Given the description of an element on the screen output the (x, y) to click on. 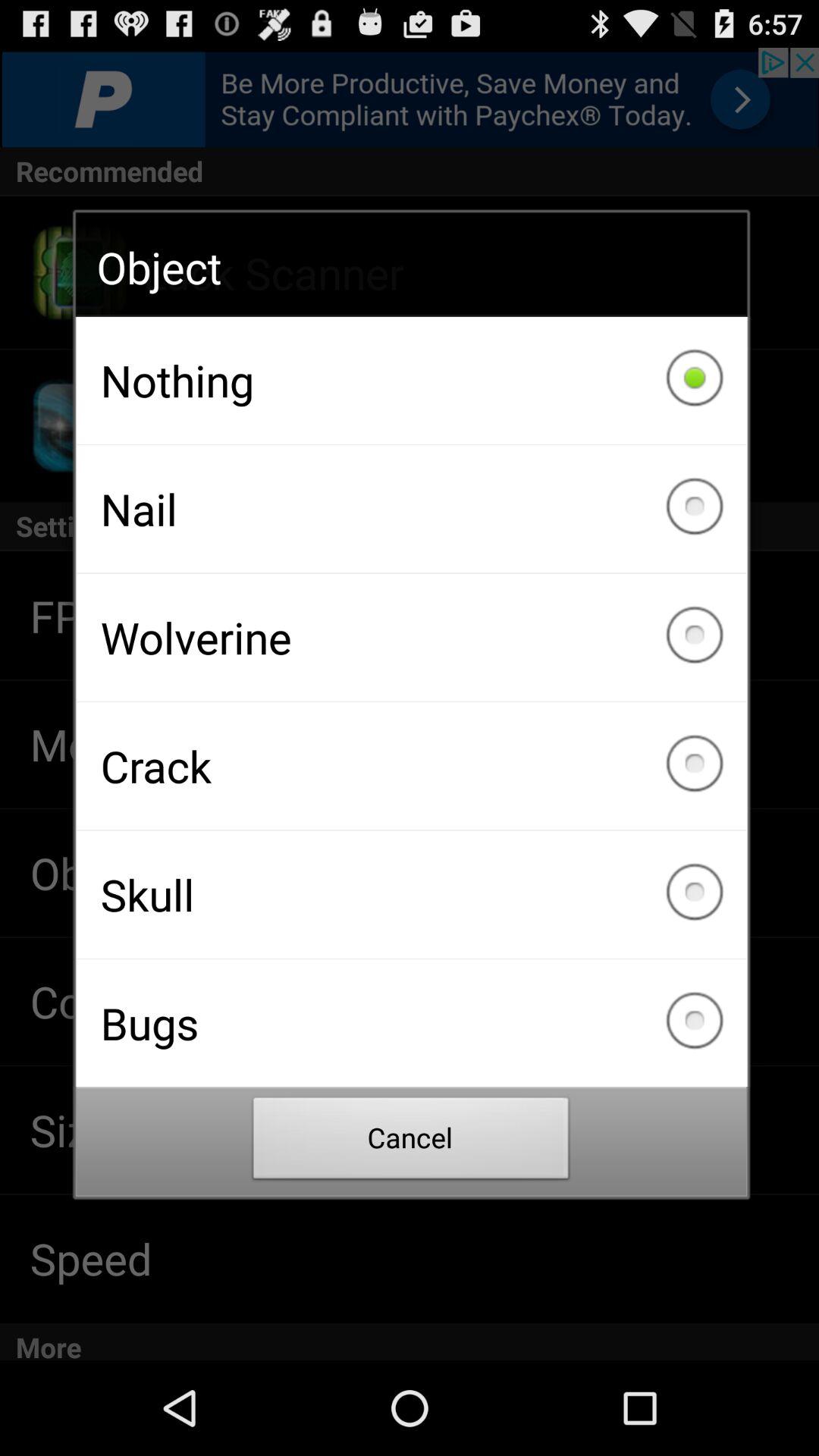
click checkbox below bugs item (410, 1142)
